Given the description of an element on the screen output the (x, y) to click on. 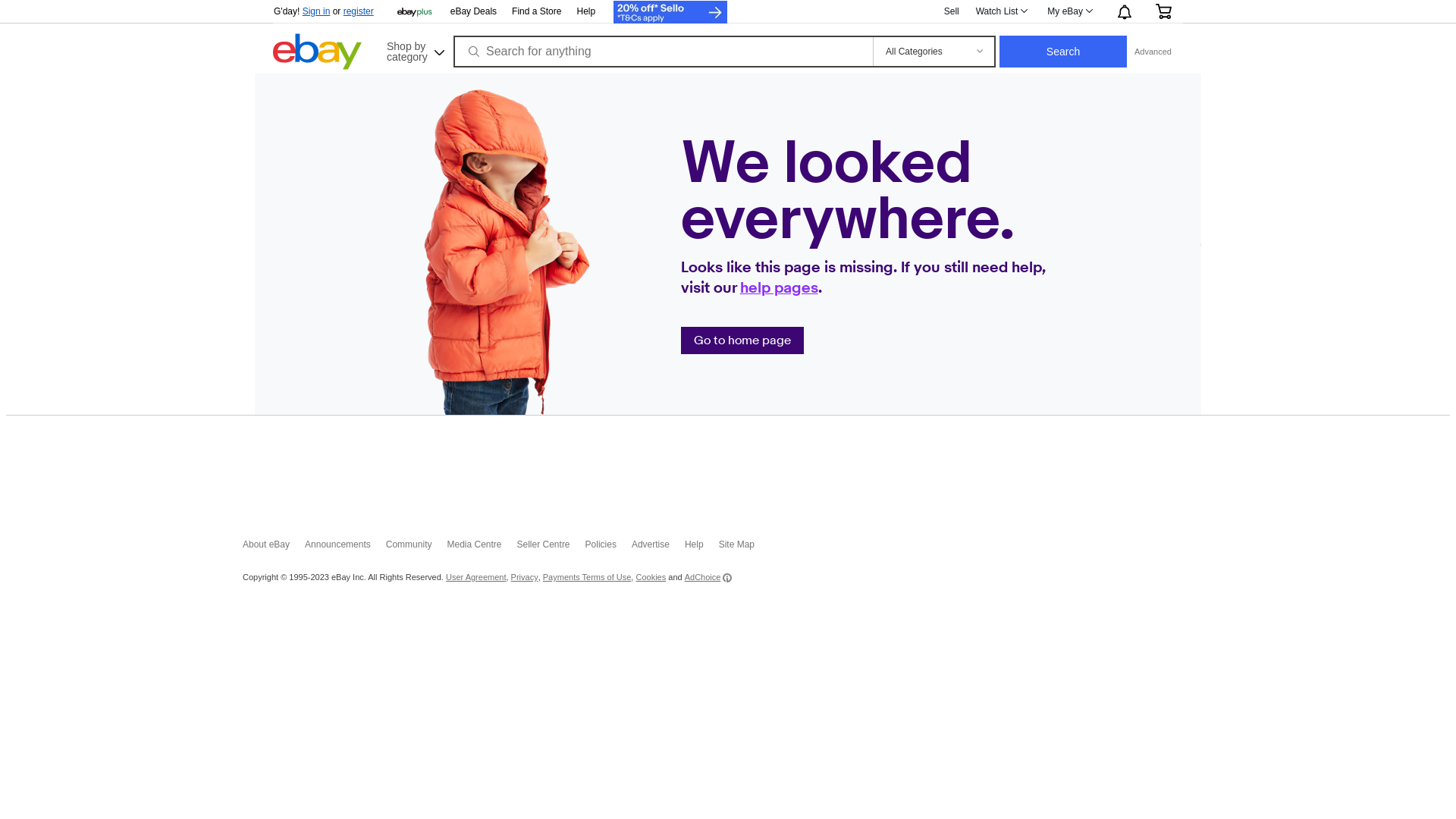
Help Element type: text (585, 11)
Search Element type: text (1062, 51)
Announcements Element type: text (344, 547)
Advertise Element type: text (657, 547)
Sell Element type: text (951, 11)
Cookies Element type: text (650, 577)
My eBay Element type: text (1068, 11)
eBay Deals Element type: text (473, 11)
Shop by category Element type: text (413, 49)
Site Map Element type: text (743, 547)
Go to home page Element type: text (741, 340)
Community Element type: text (416, 547)
Watch List Element type: text (1001, 11)
User Agreement Element type: text (475, 577)
Media Centre Element type: text (481, 547)
Payments Terms of Use Element type: text (586, 577)
register Element type: text (358, 11)
ADVERTISEMENT Element type: hover (727, 467)
Find a Store Element type: text (536, 11)
Advanced Element type: text (1152, 51)
Notification Element type: text (1123, 10)
AdChoice Element type: text (708, 577)
load bk Element type: hover (273, 84)
Help Element type: text (701, 547)
help pages Element type: text (779, 287)
Seller Centre Element type: text (551, 547)
Policies Element type: text (608, 547)
Sign in Element type: text (316, 11)
Privacy Element type: text (524, 577)
About eBay Element type: text (273, 547)
